Given the description of an element on the screen output the (x, y) to click on. 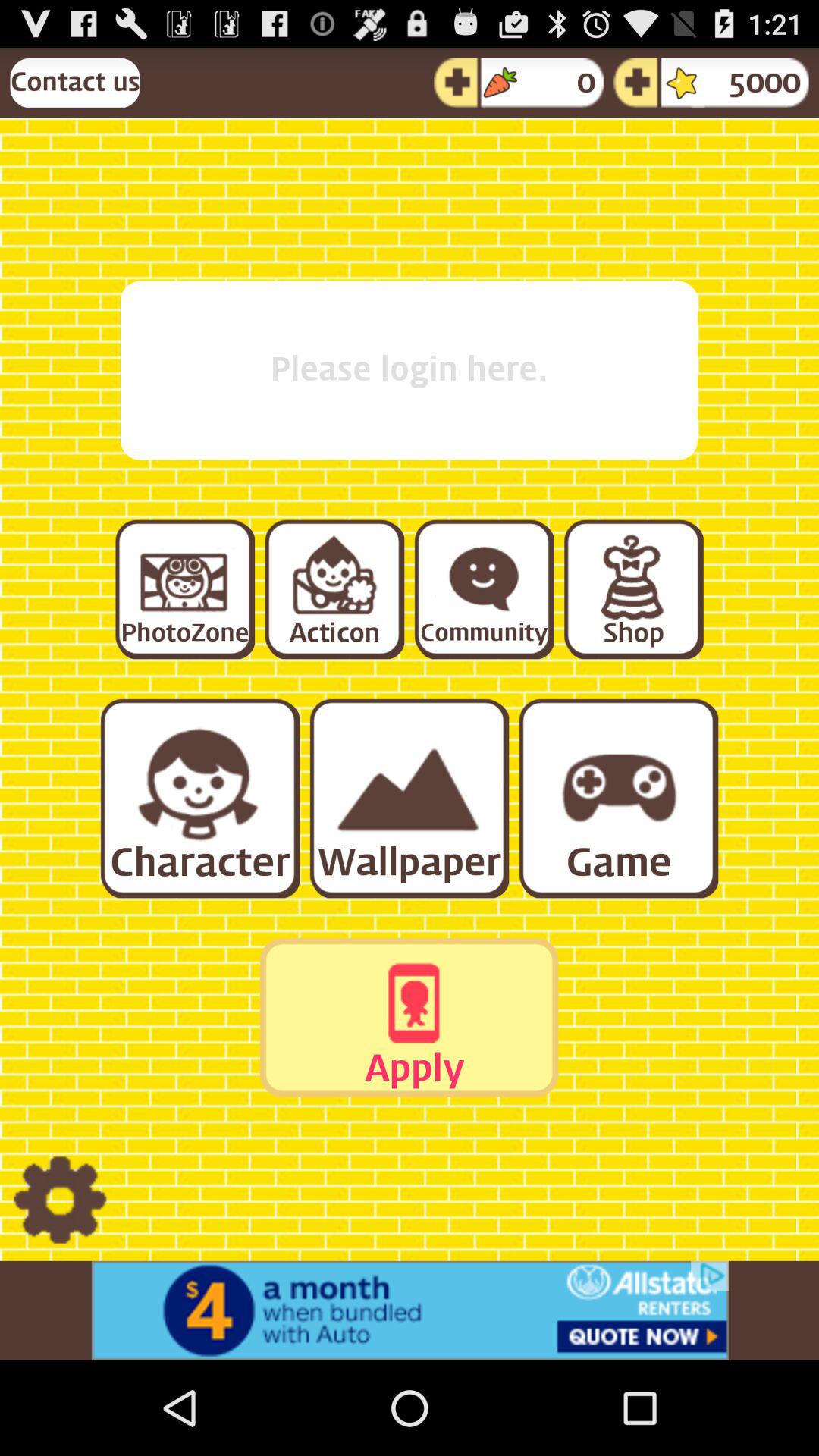
go to acticon (333, 588)
